Given the description of an element on the screen output the (x, y) to click on. 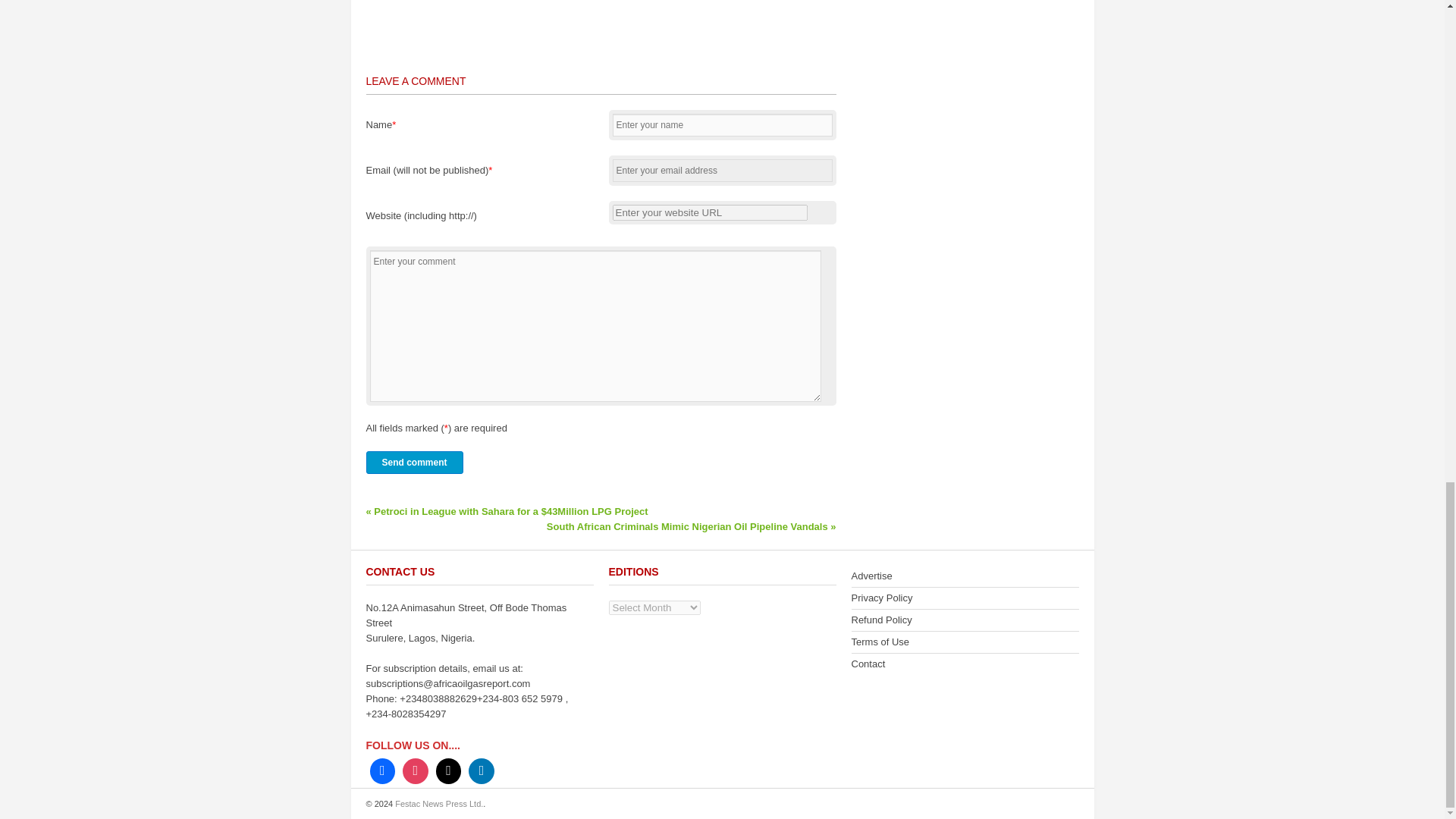
X (448, 770)
Linkedin (480, 770)
Instagram (415, 770)
Facebook (381, 770)
